Given the description of an element on the screen output the (x, y) to click on. 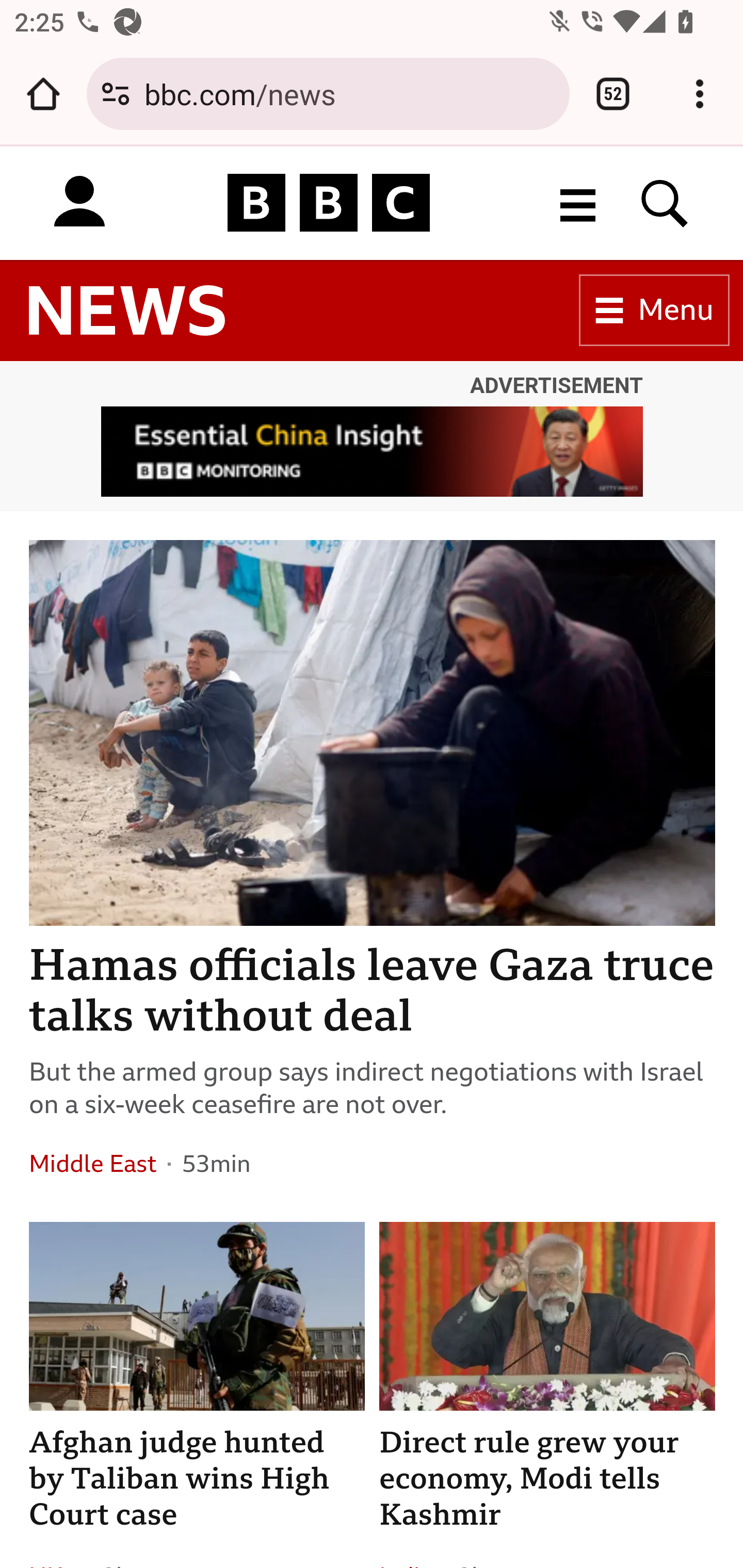
Open the home page (43, 93)
Connection is secure (115, 93)
Switch or close tabs (612, 93)
Customize and control Google Chrome (699, 93)
bbc.com/news (349, 92)
Sign in (79, 202)
BBC Homepage (329, 202)
More menu (578, 202)
Search BBC (665, 202)
BBC News (126, 311)
Middle East (92, 1163)
Direct rule grew your economy, Modi tells Kashmir (547, 1479)
